Given the description of an element on the screen output the (x, y) to click on. 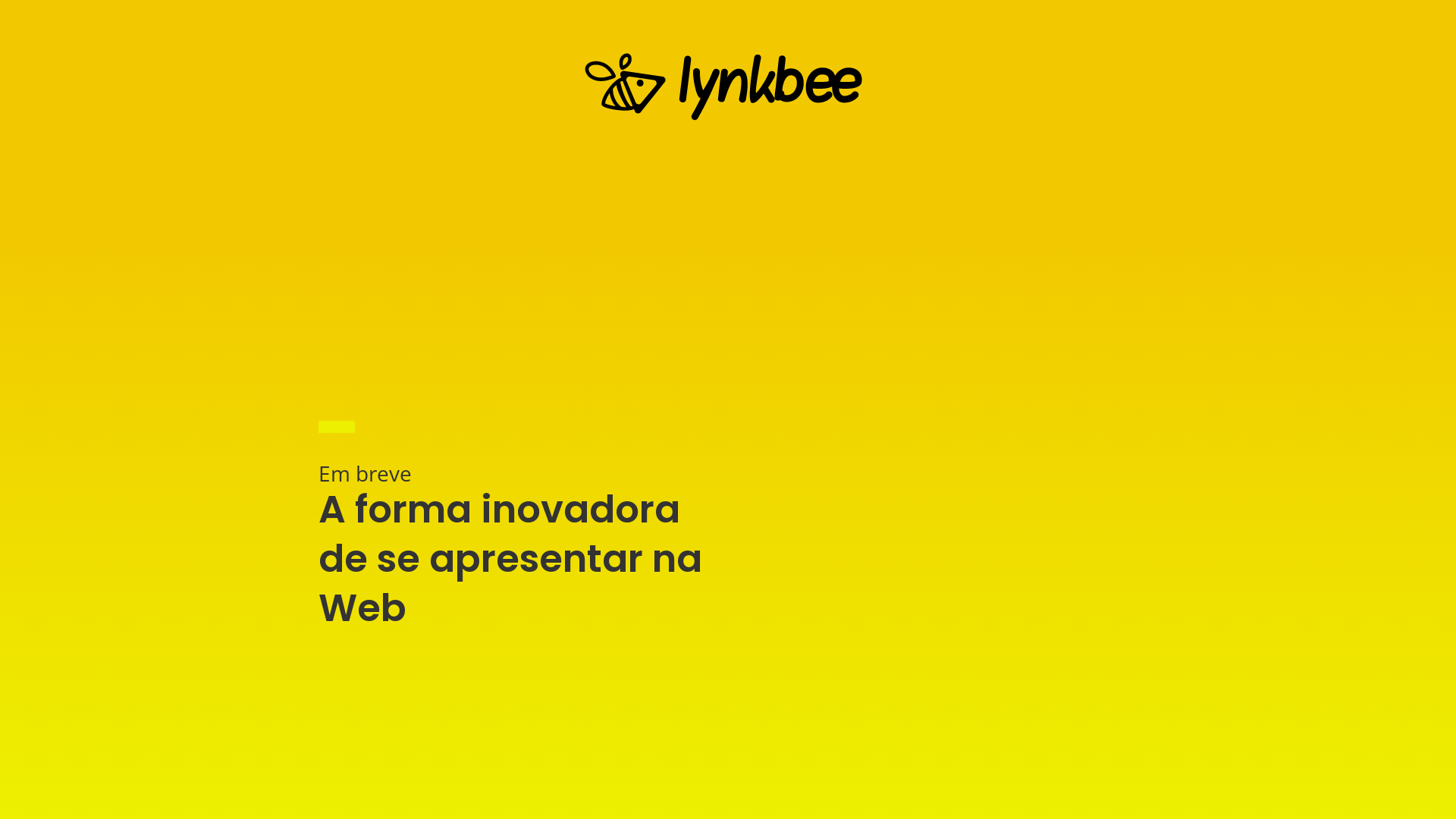
lynkbee-temp-v3 Element type: hover (727, 86)
